Given the description of an element on the screen output the (x, y) to click on. 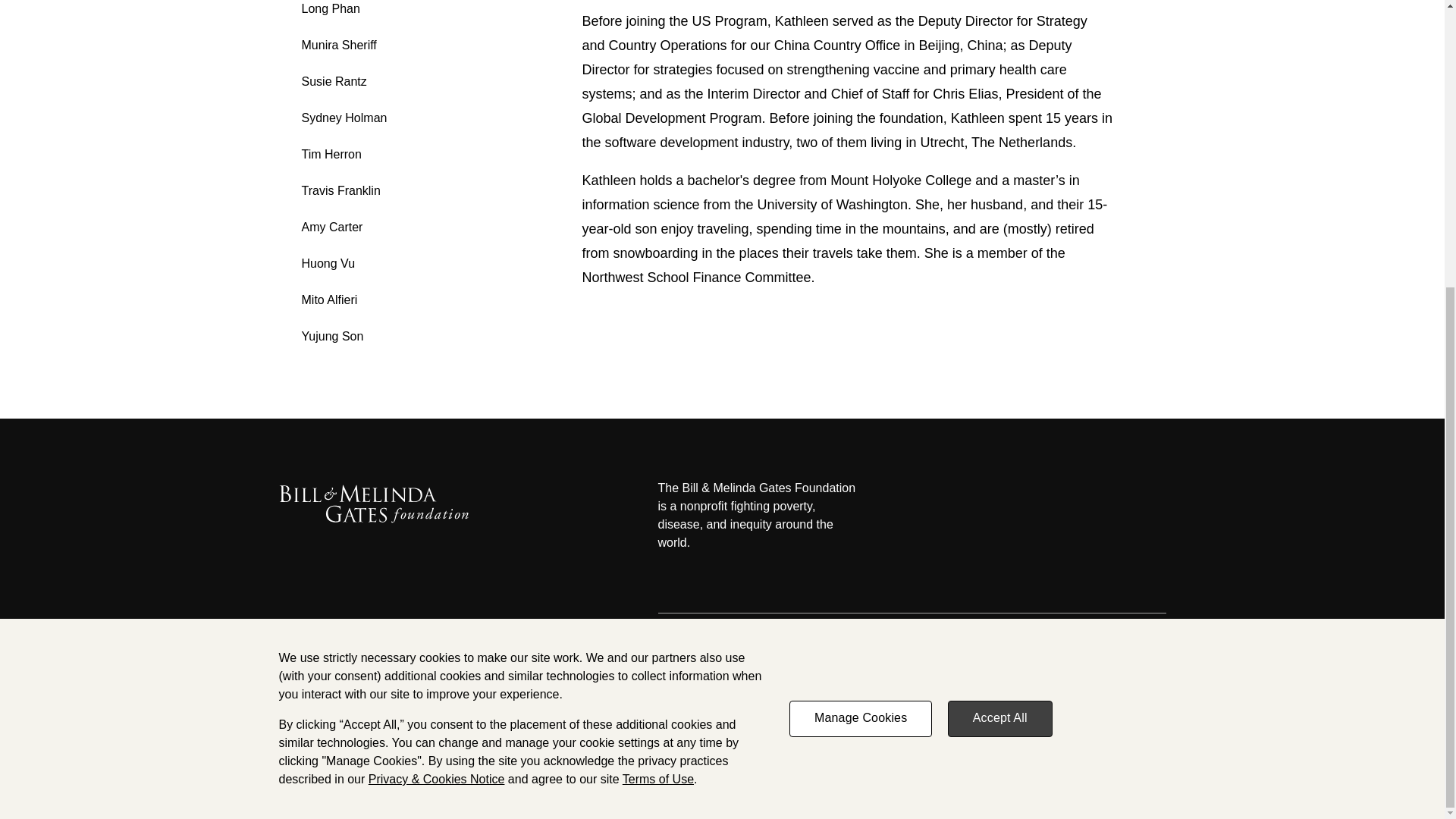
Huong Vu (328, 263)
Mito Alfieri (329, 299)
Amy Carter (331, 226)
Susie Rantz (333, 81)
Munira Sheriff (339, 44)
Travis Franklin (340, 190)
Sydney Holman (344, 117)
Tim Herron (331, 154)
Yujung Son (332, 336)
Long Phan (330, 8)
